Given the description of an element on the screen output the (x, y) to click on. 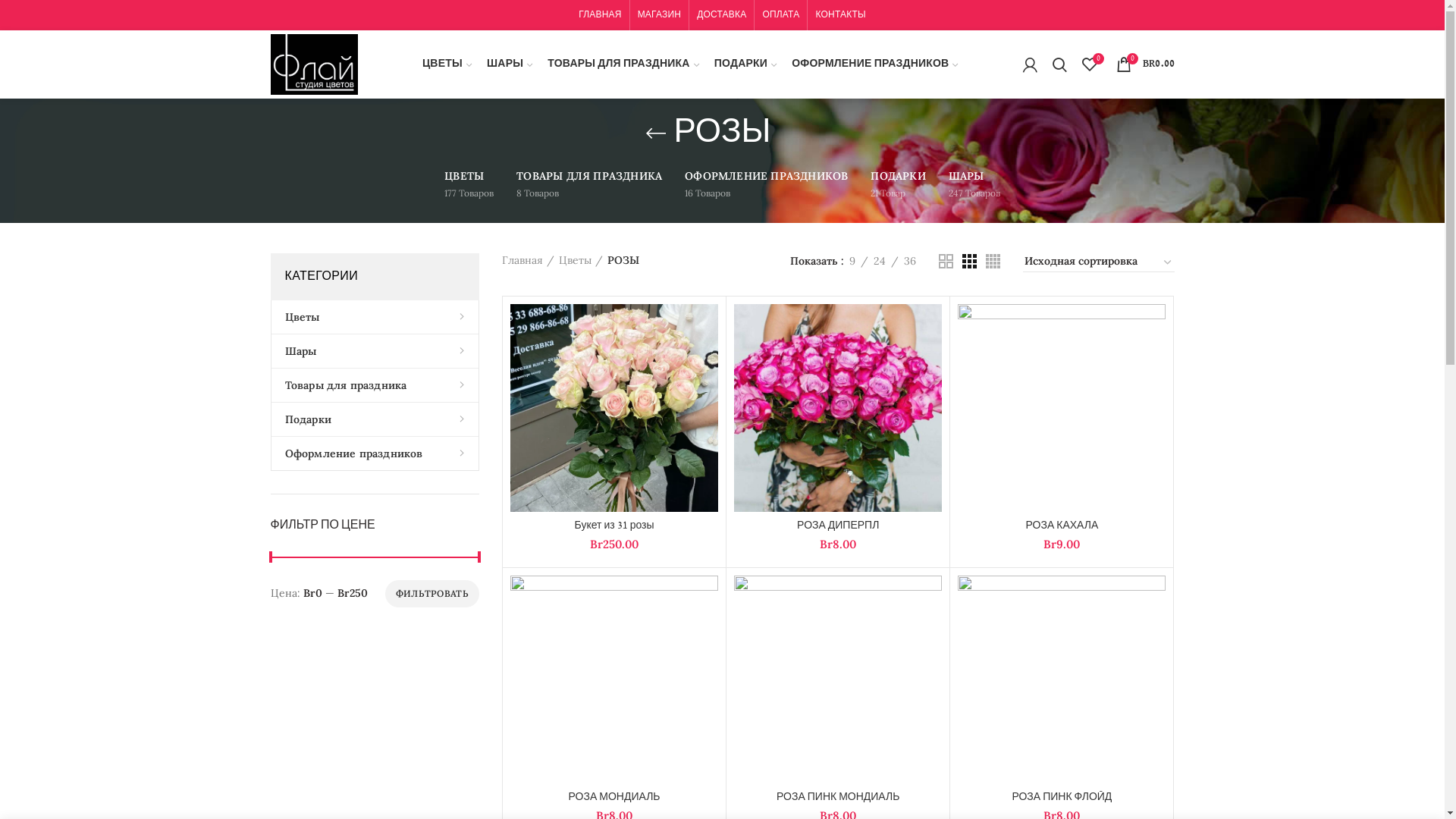
0
BR0.00 Element type: text (1145, 64)
36 Element type: text (908, 260)
24 Element type: text (878, 260)
9 Element type: text (851, 260)
0 Element type: text (1088, 64)
